Given the description of an element on the screen output the (x, y) to click on. 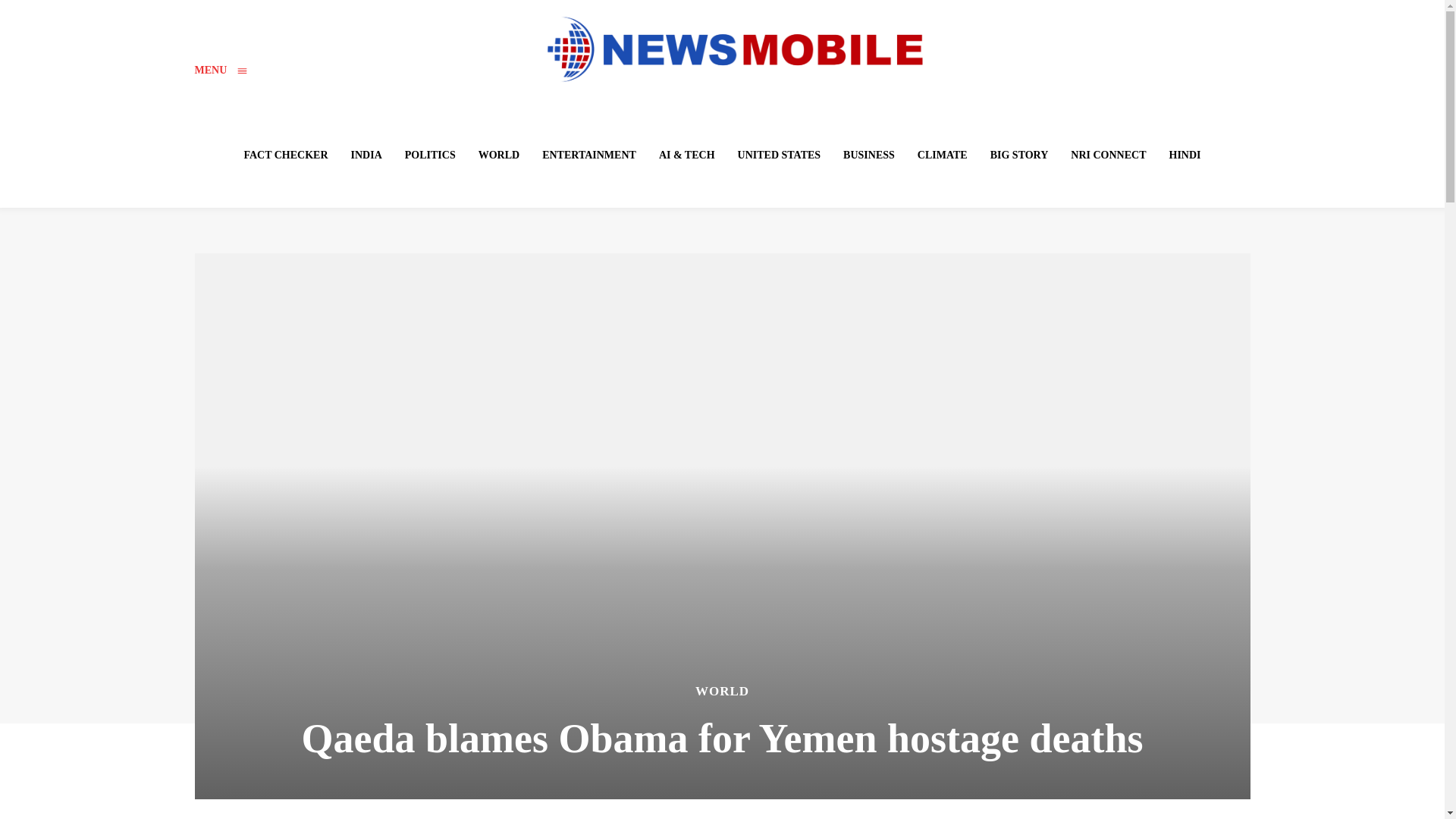
WORLD (498, 155)
MENU (220, 69)
INDIA (366, 155)
Menu (220, 69)
FACT CHECKER (284, 155)
ENTERTAINMENT (588, 155)
POLITICS (430, 155)
